Given the description of an element on the screen output the (x, y) to click on. 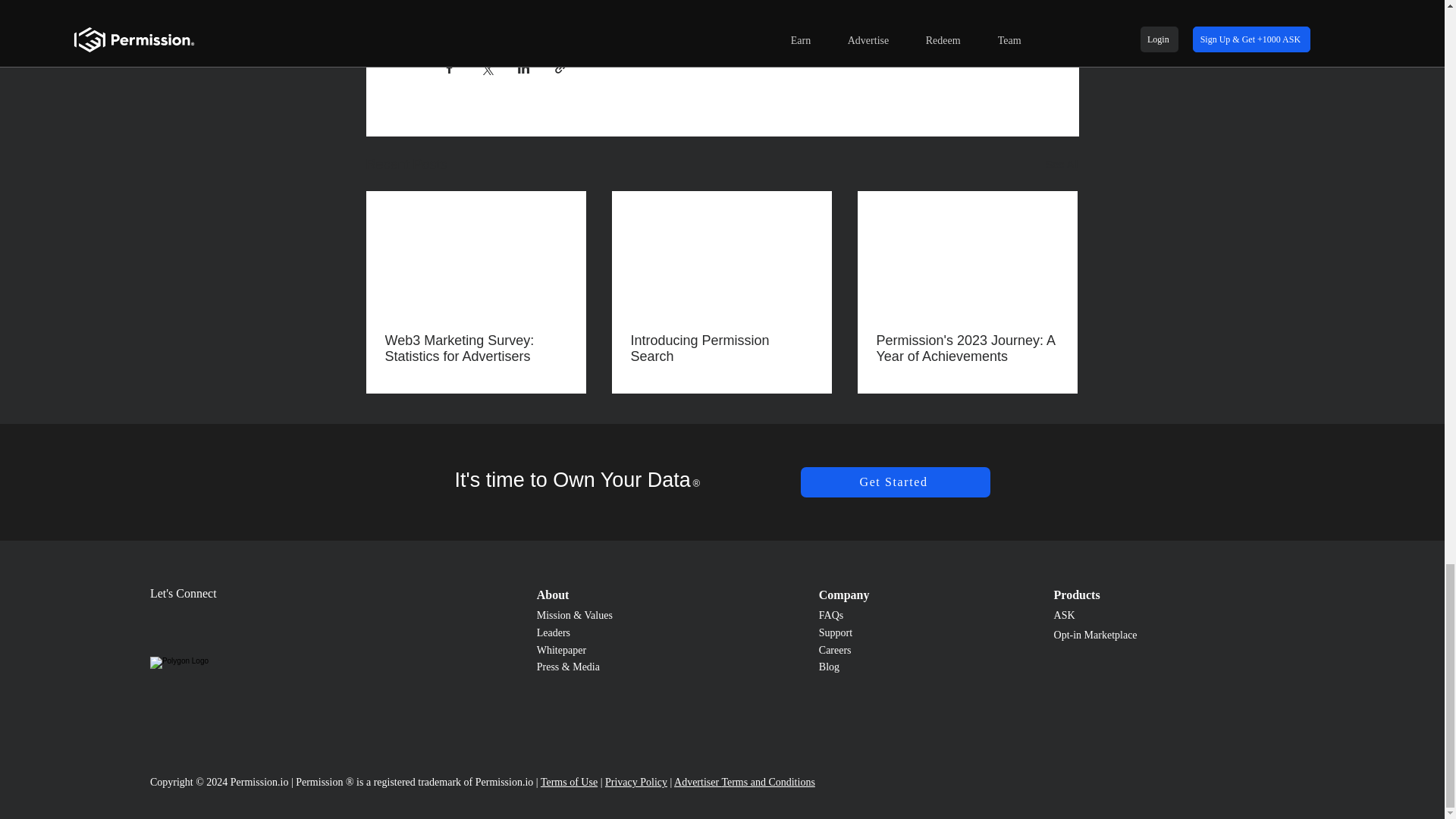
See All (1061, 164)
Permission's 2023 Journey: A Year of Achievements (967, 348)
Get Started (895, 481)
Introducing Permission Search (721, 348)
Web3 Marketing Survey: Statistics for Advertisers (476, 348)
